Given the description of an element on the screen output the (x, y) to click on. 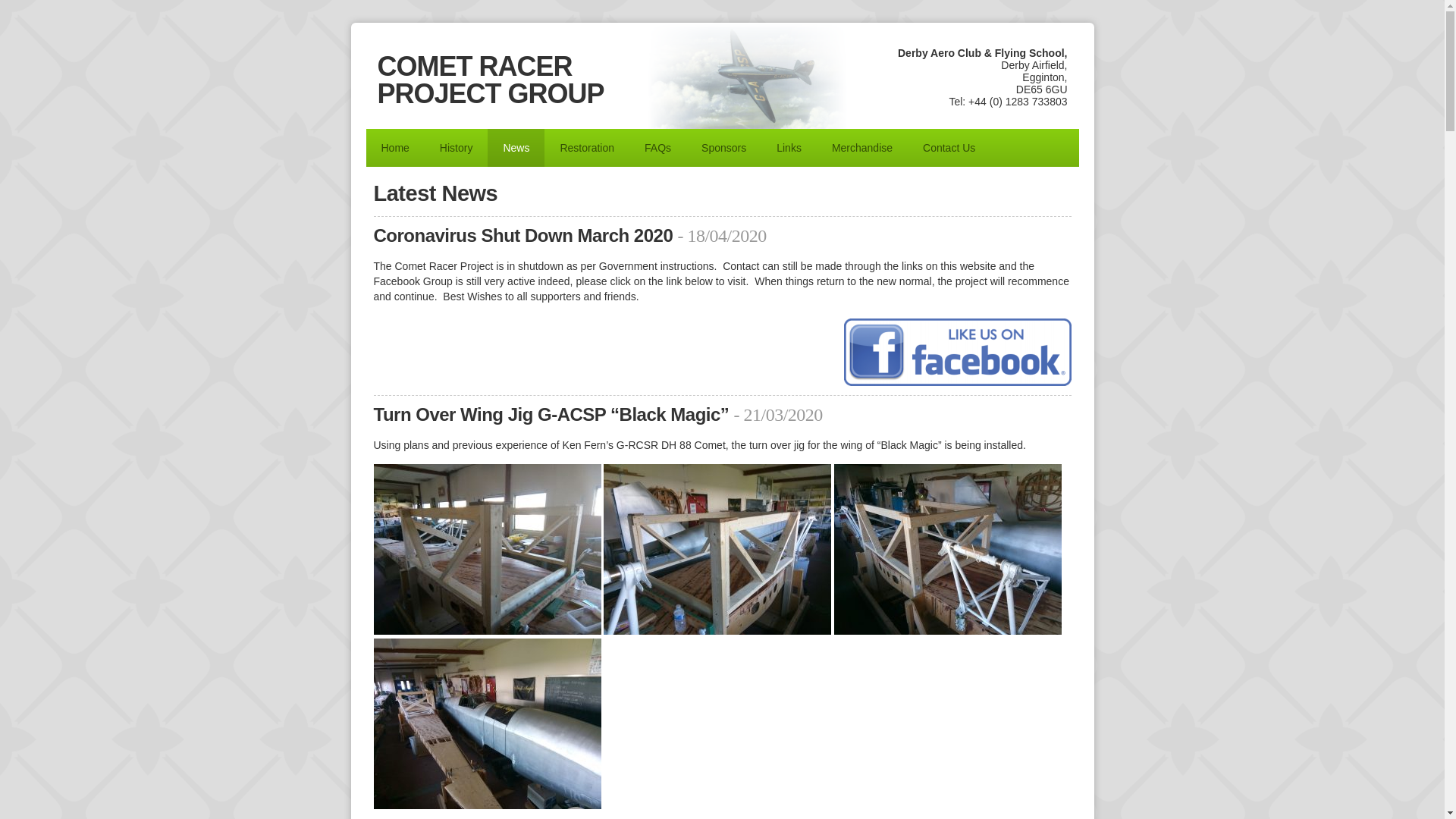
Links (788, 147)
News (515, 147)
Home (394, 147)
FAQs (656, 147)
Sponsors (723, 147)
Restoration (586, 147)
Merchandise (861, 147)
History (456, 147)
Contact Us (948, 147)
